Given the description of an element on the screen output the (x, y) to click on. 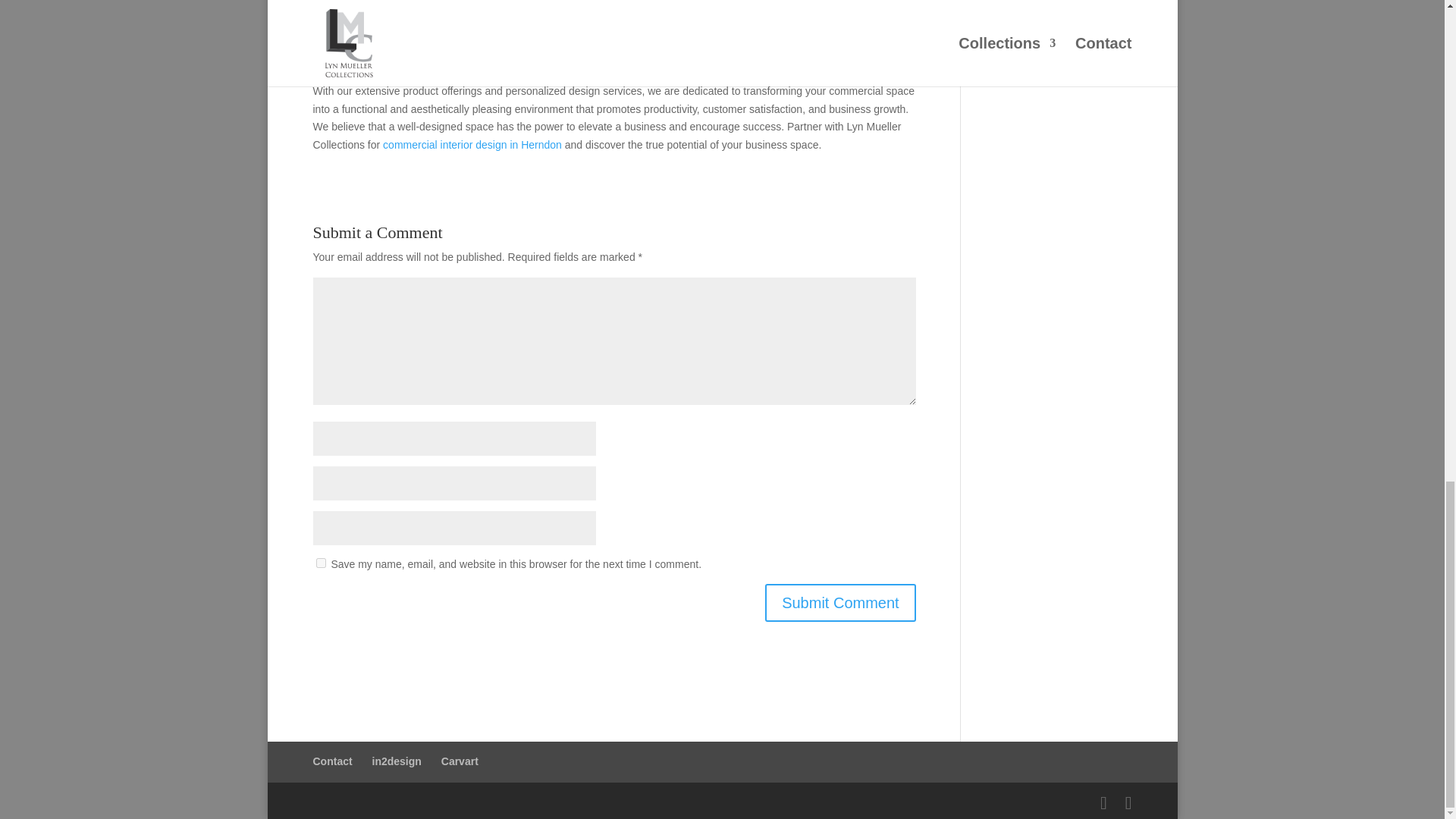
in2design (397, 761)
Contact (332, 761)
yes (319, 562)
Submit Comment (840, 602)
Carvart (460, 761)
commercial interior design in Herndon (472, 144)
Submit Comment (840, 602)
